Given the description of an element on the screen output the (x, y) to click on. 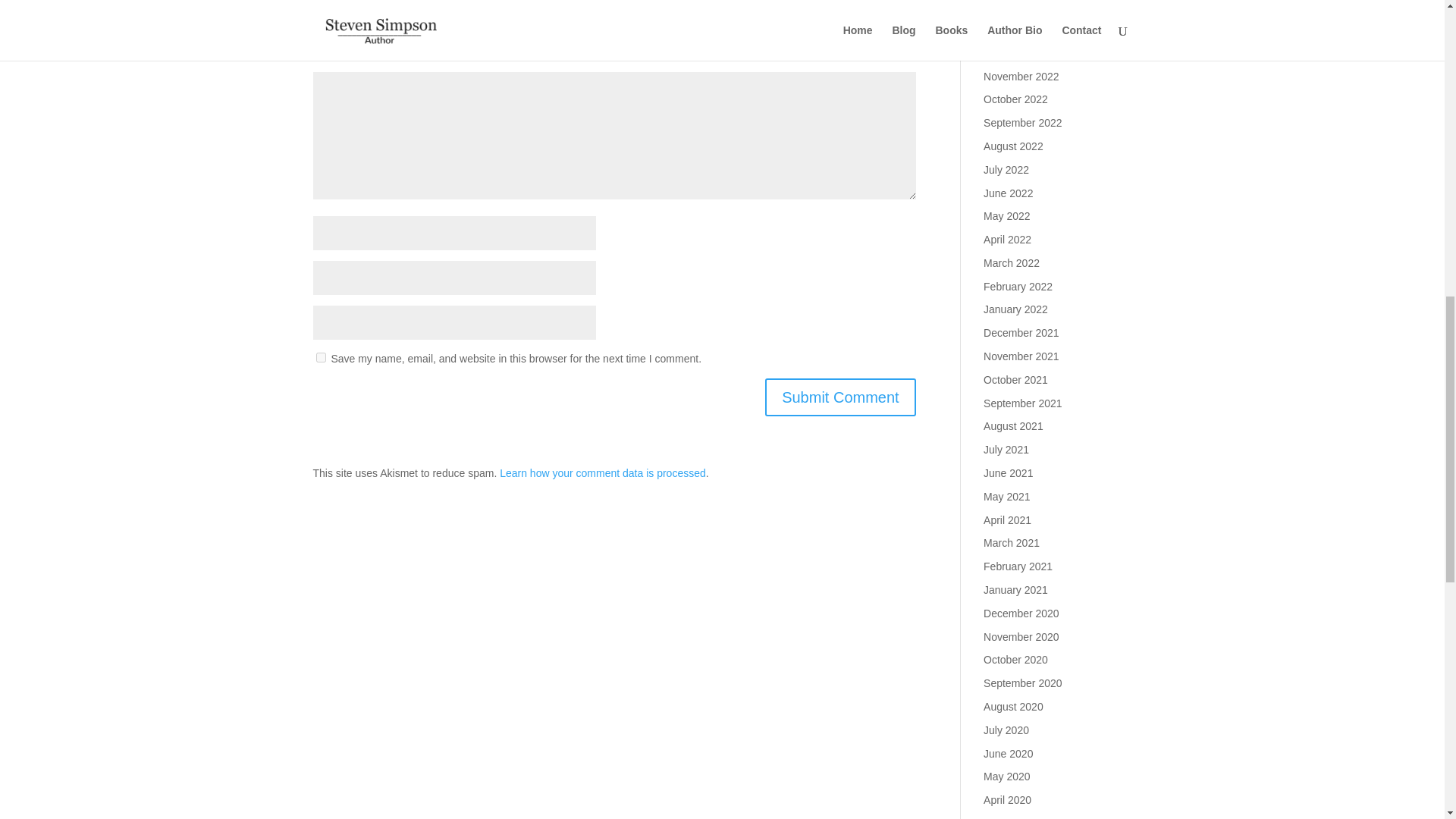
Submit Comment (840, 397)
Submit Comment (840, 397)
Learn how your comment data is processed (602, 472)
yes (319, 356)
